Given the description of an element on the screen output the (x, y) to click on. 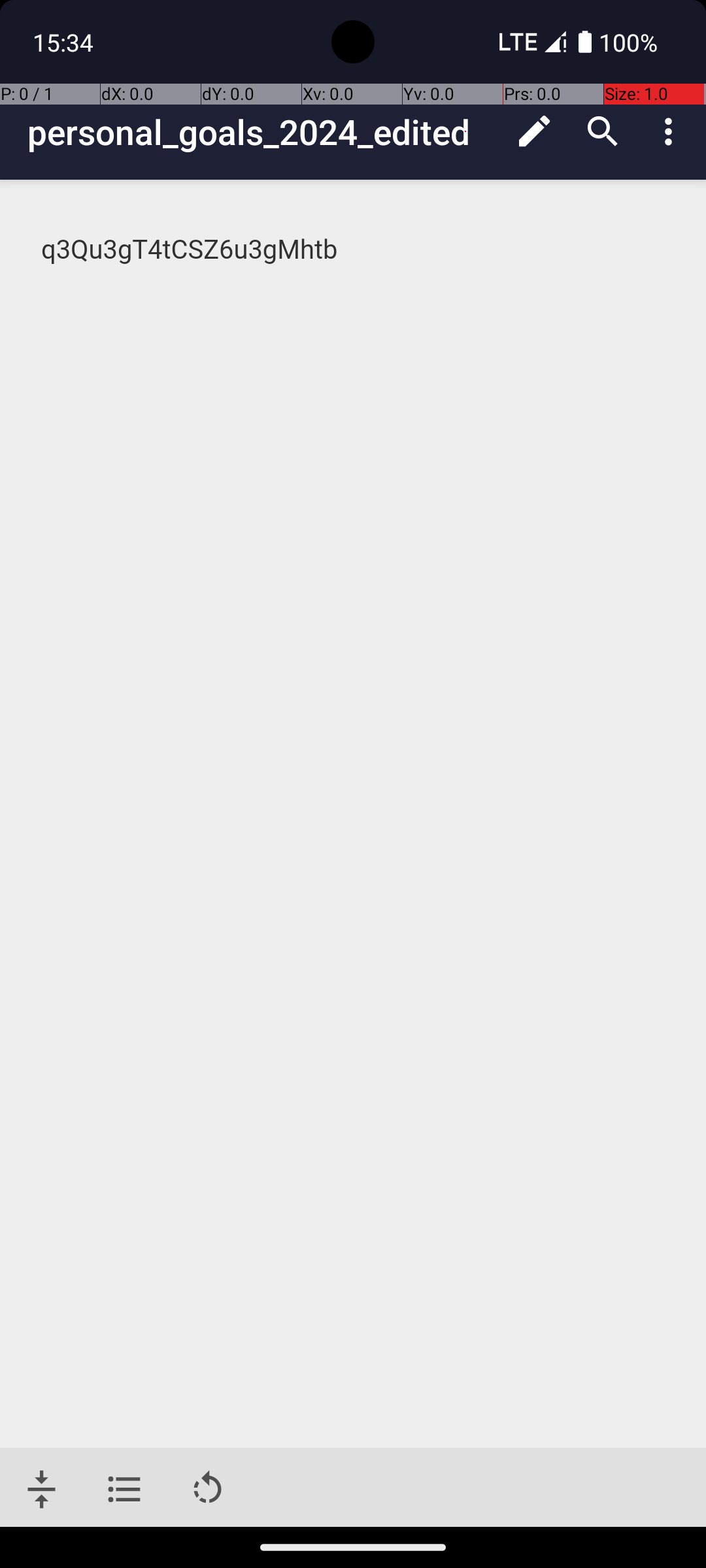
personal_goals_2024_edited Element type: android.widget.TextView (263, 131)
q3Qu3gT4tCSZ6u3gMhtb Element type: android.widget.TextView (354, 249)
